Given the description of an element on the screen output the (x, y) to click on. 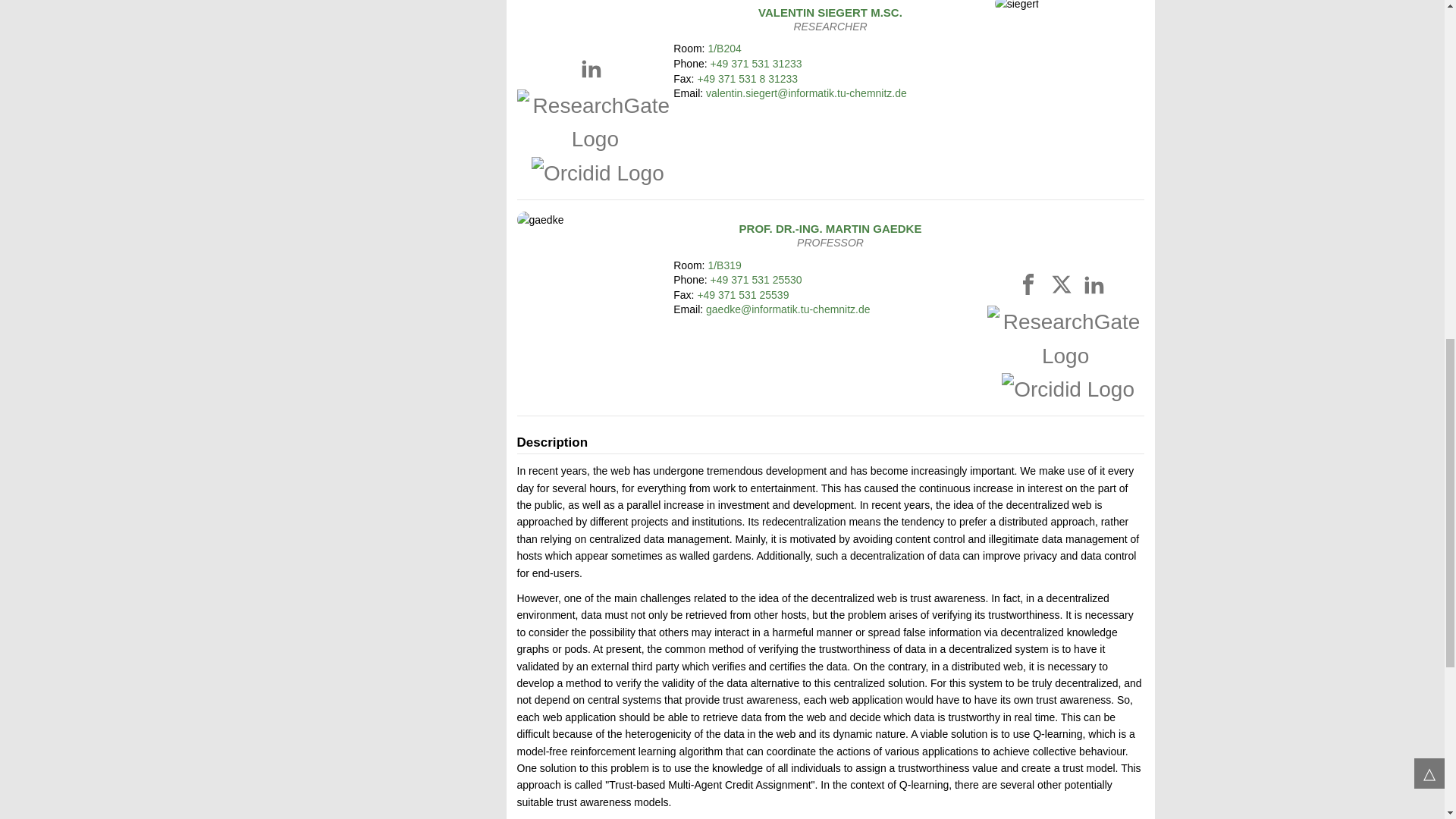
LinkedIn Martin Gaedke (1096, 287)
Facebook Martin Gaedke (1030, 287)
send an email (806, 92)
send a fax (747, 78)
send an email (788, 309)
Twitter Martin Gaedke (1064, 287)
ResearchGate Valentin Siegert (595, 138)
send a fax (743, 295)
Orcidid Valentin Siegert (592, 173)
LinkedIn Valentin Siegert (593, 71)
